Given the description of an element on the screen output the (x, y) to click on. 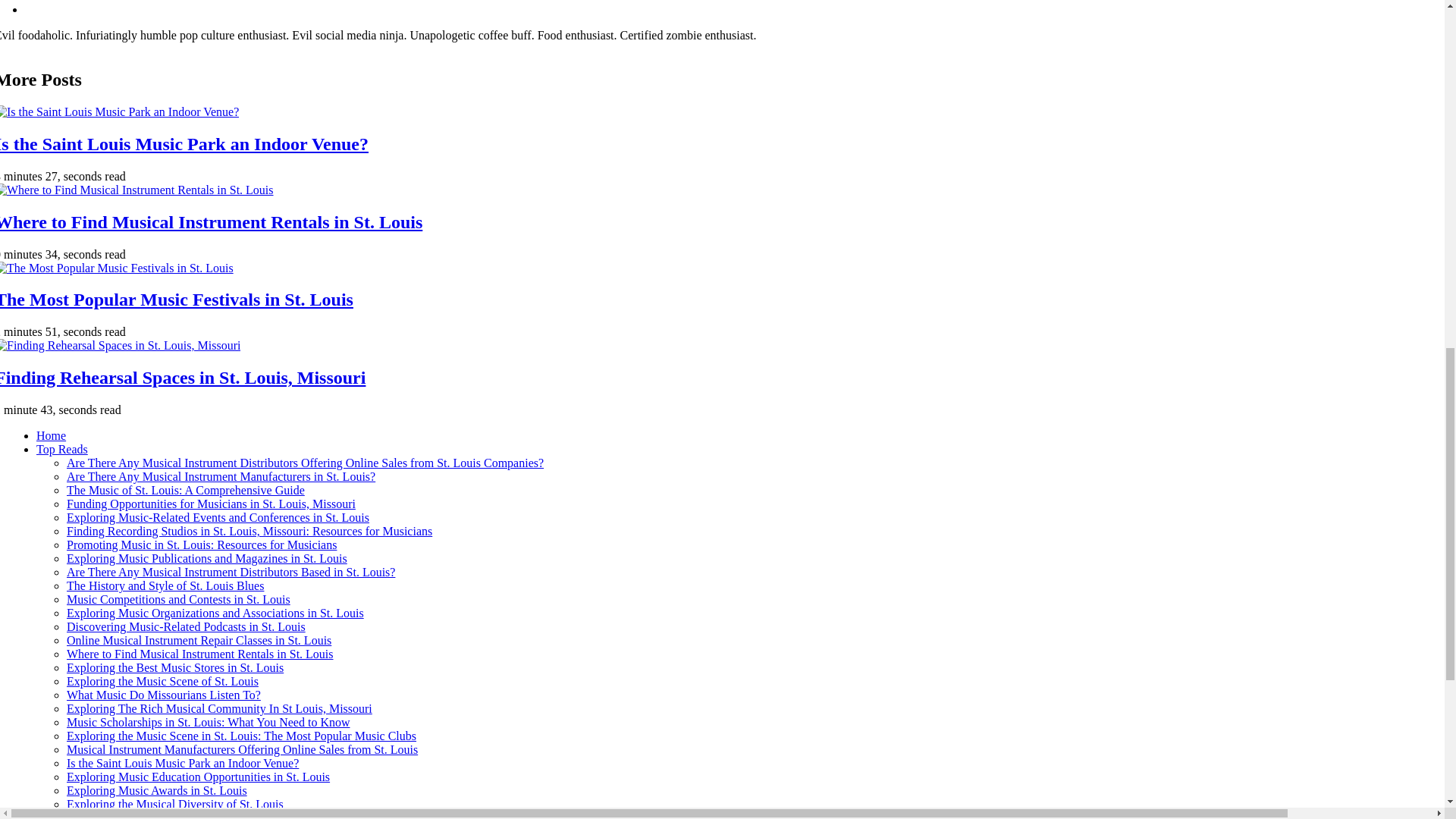
Exploring Music-Related Events and Conferences in St. Louis (217, 517)
Home (50, 435)
The Music of St. Louis: A Comprehensive Guide (185, 490)
The Most Popular Music Festivals in St. Louis (176, 299)
Exploring Music Publications and Magazines in St. Louis (206, 558)
Finding Rehearsal Spaces in St. Louis, Missouri (182, 377)
Promoting Music in St. Louis: Resources for Musicians (201, 544)
Are There Any Musical Instrument Manufacturers in St. Louis? (220, 476)
Top Reads (61, 449)
Where to Find Musical Instrument Rentals in St. Louis (211, 221)
Funding Opportunities for Musicians in St. Louis, Missouri (210, 503)
Is the Saint Louis Music Park an Indoor Venue? (184, 143)
